Given the description of an element on the screen output the (x, y) to click on. 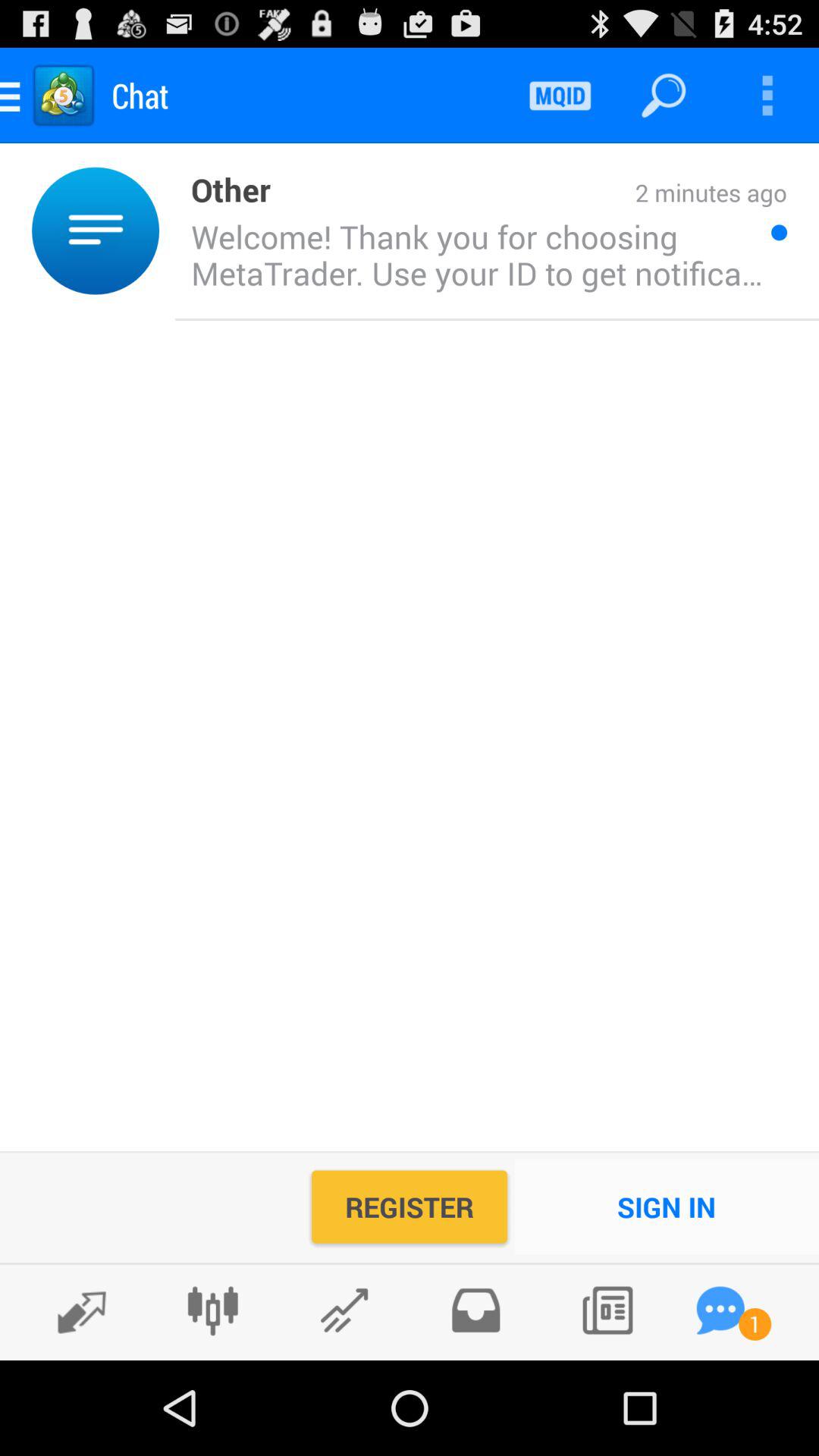
turn on the item above welcome thank you (528, 194)
